Given the description of an element on the screen output the (x, y) to click on. 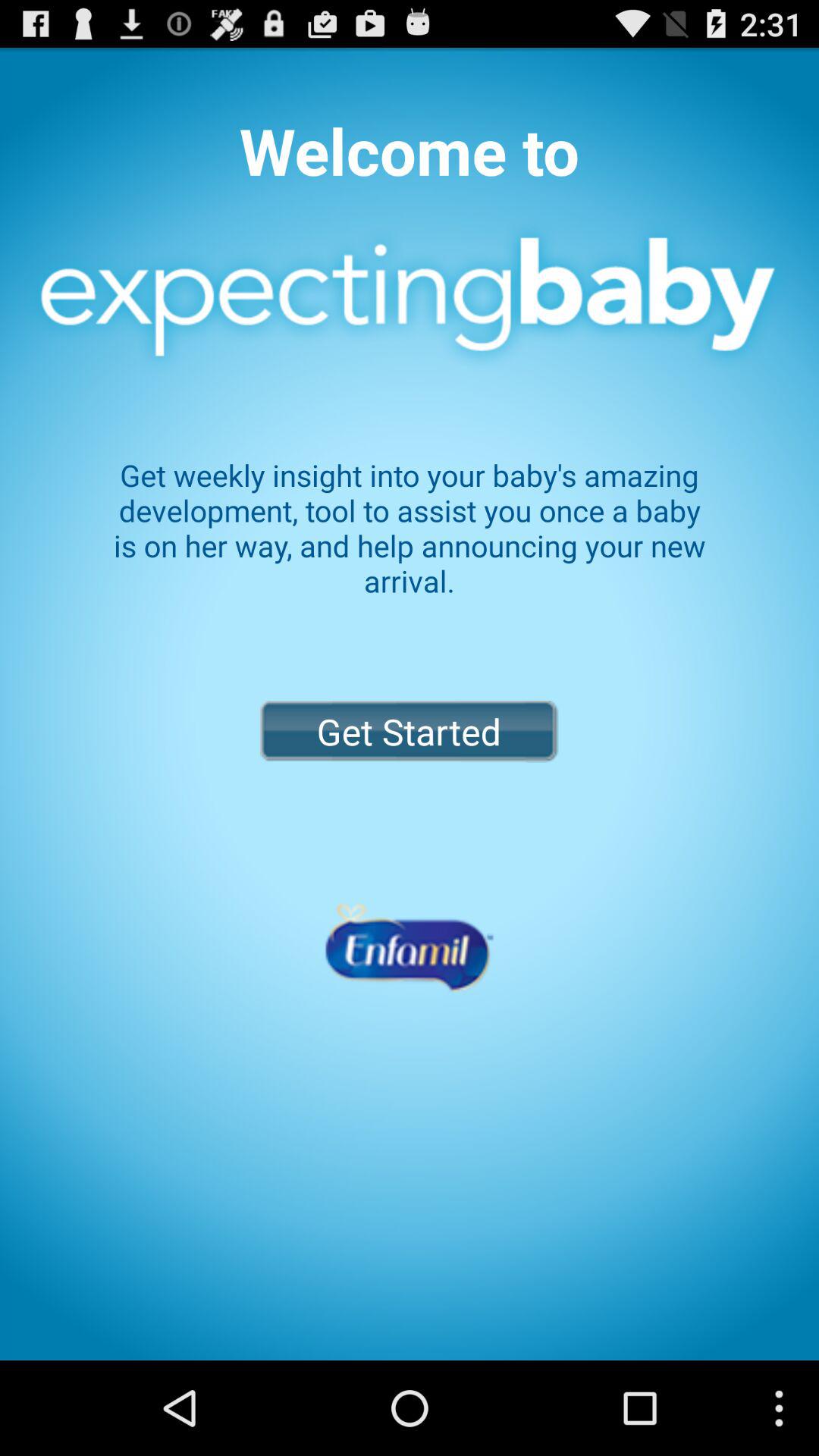
tap the get started button (408, 731)
